Given the description of an element on the screen output the (x, y) to click on. 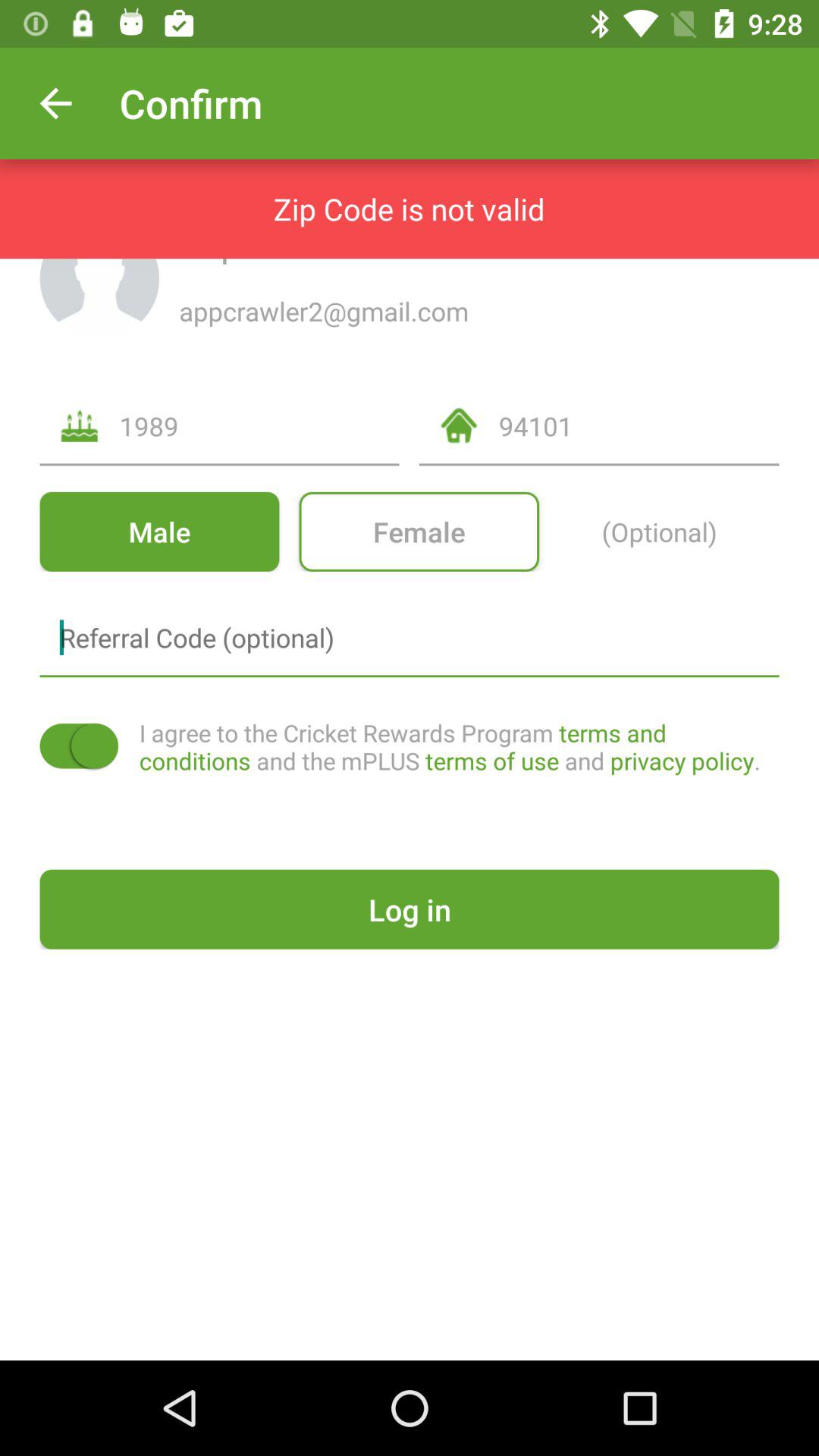
select icon next to (optional) item (419, 531)
